Given the description of an element on the screen output the (x, y) to click on. 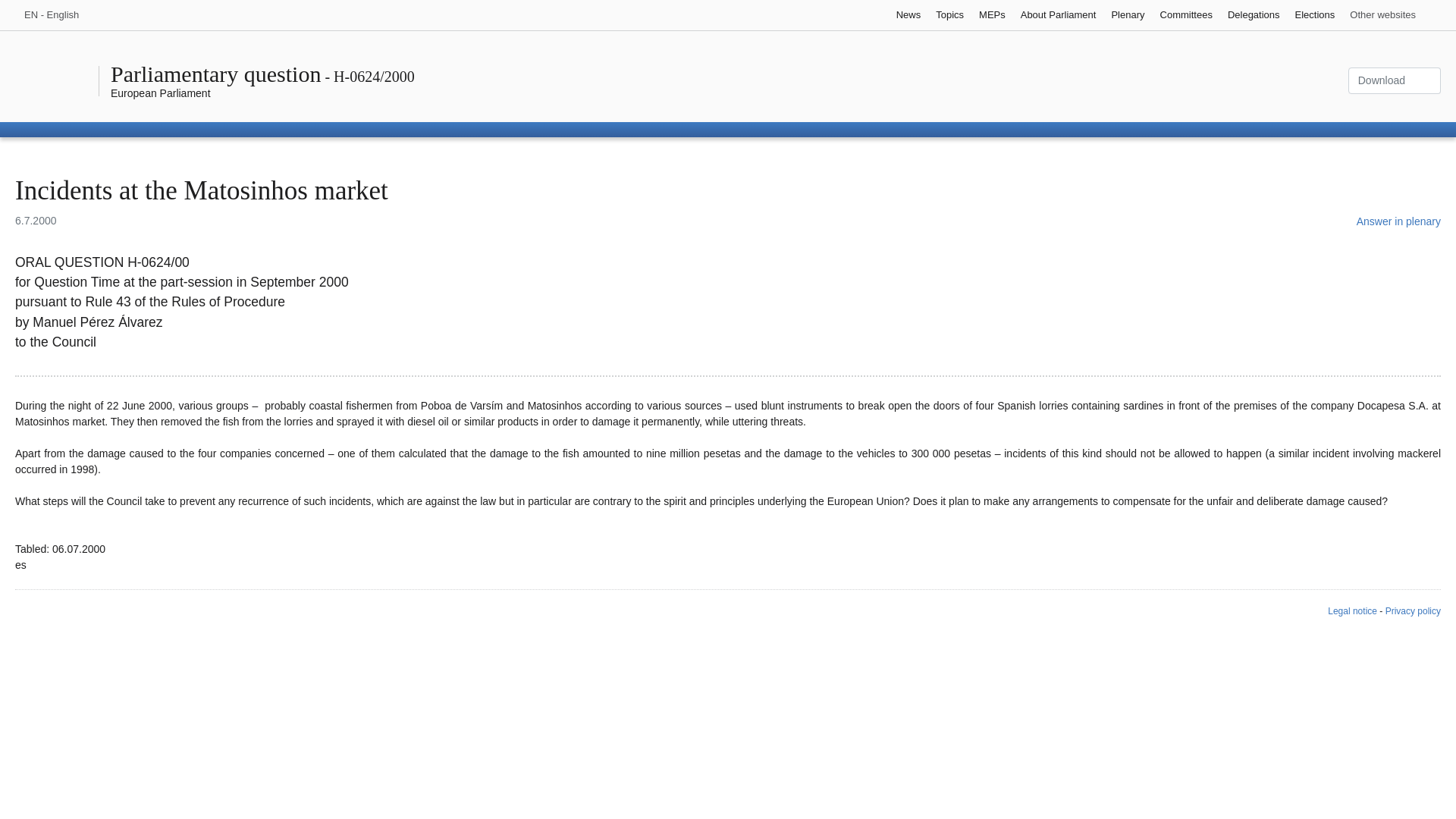
Topics (949, 15)
Other websites (1391, 15)
EN - English (58, 15)
About Parliament (1058, 15)
Elections (1314, 15)
Go back to the Europarl portal (160, 92)
Plenary (1127, 15)
News (908, 15)
Delegations (1253, 15)
Committees (1186, 15)
